Given the description of an element on the screen output the (x, y) to click on. 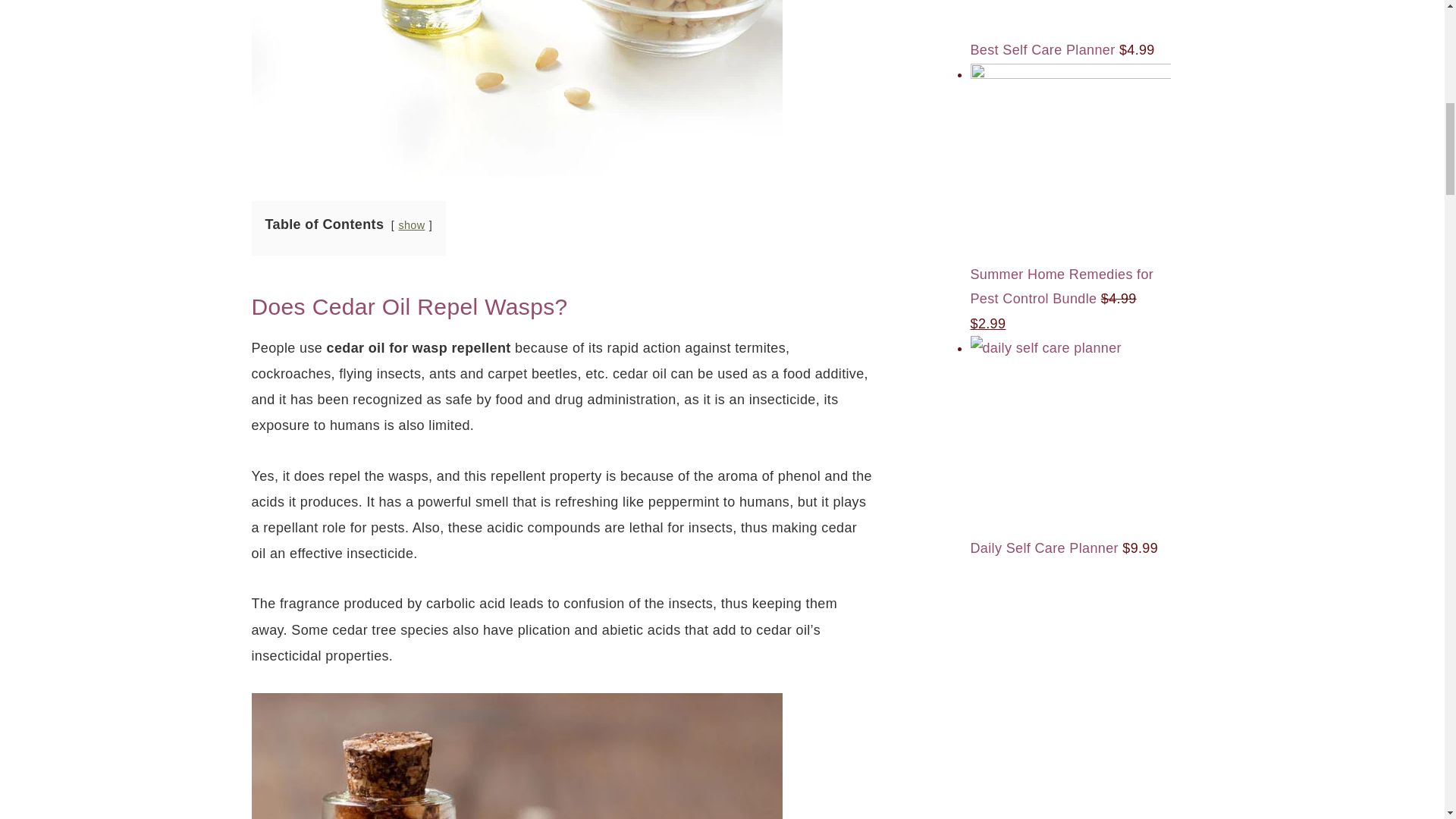
show (411, 224)
